Given the description of an element on the screen output the (x, y) to click on. 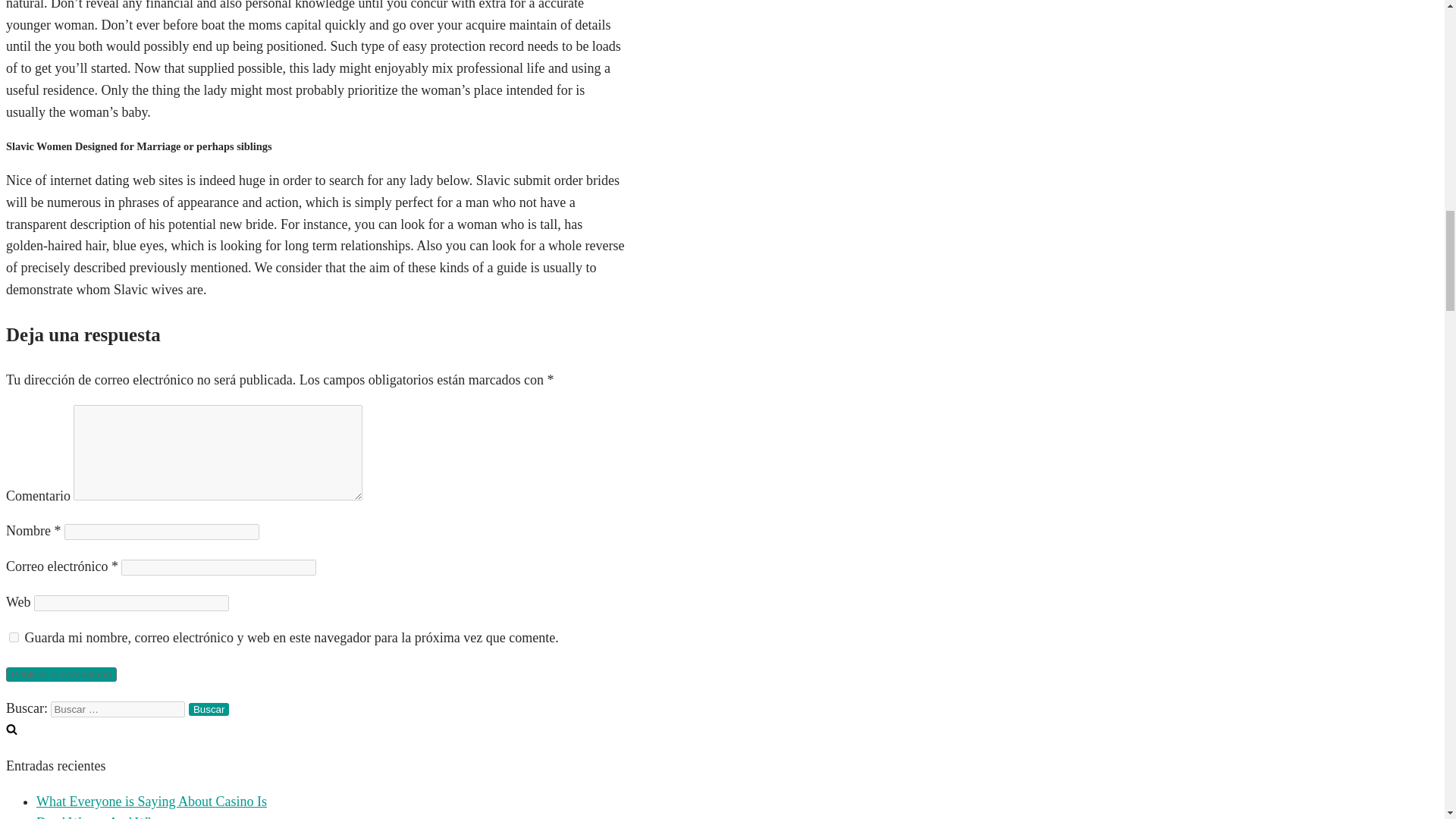
Buscar (208, 708)
Publicar el comentario (60, 674)
Publicar el comentario (60, 674)
yes (13, 637)
Buscar (208, 708)
What Everyone is Saying About Casino Is Dead Wrong And Why (151, 806)
Buscar (208, 708)
